Given the description of an element on the screen output the (x, y) to click on. 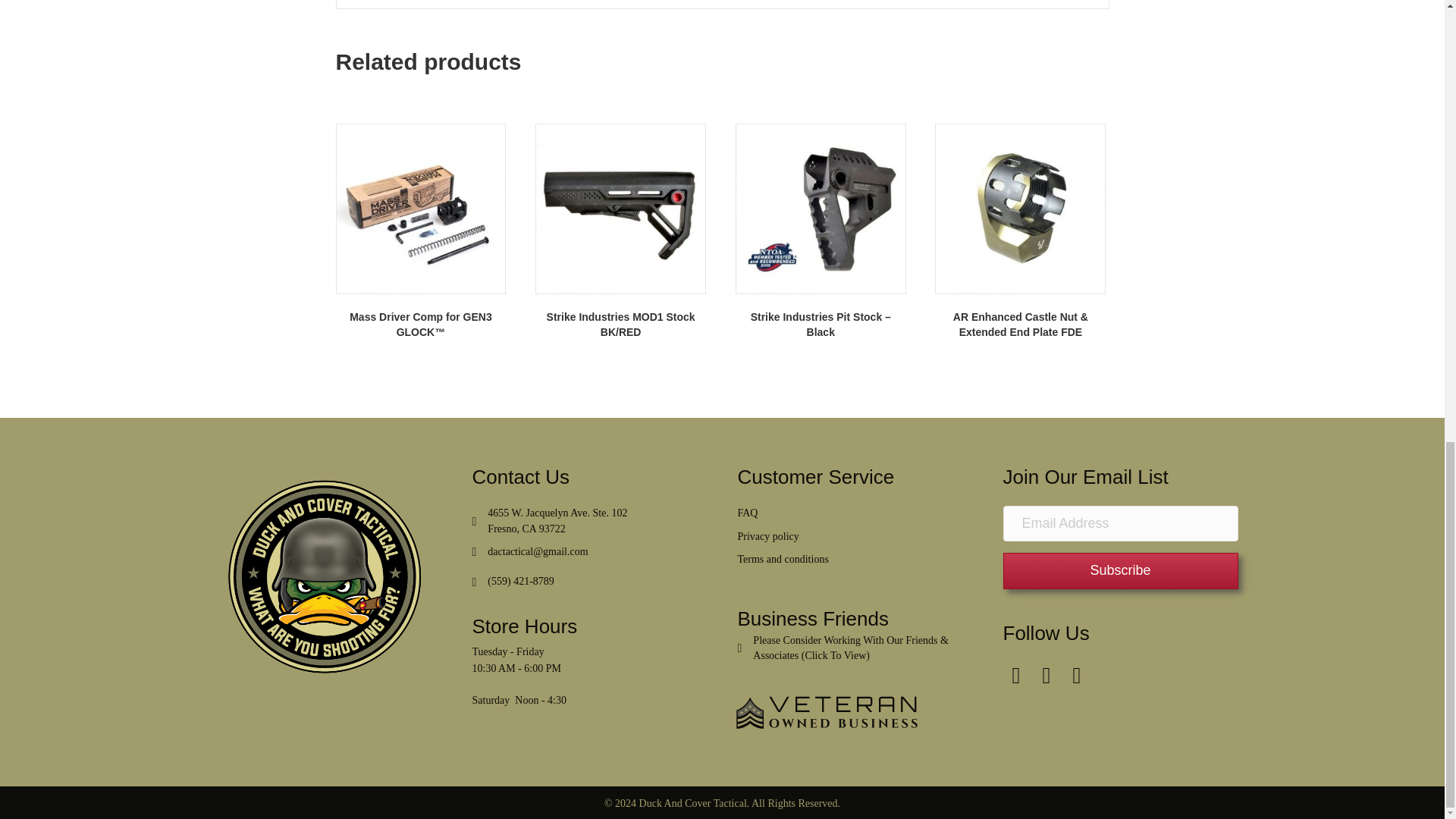
Facebook (1016, 674)
Duck and Cover Tactical Logo (323, 576)
Veteran Owned Business Logo (828, 712)
YouTube (1075, 674)
Instagram (1045, 674)
